Given the description of an element on the screen output the (x, y) to click on. 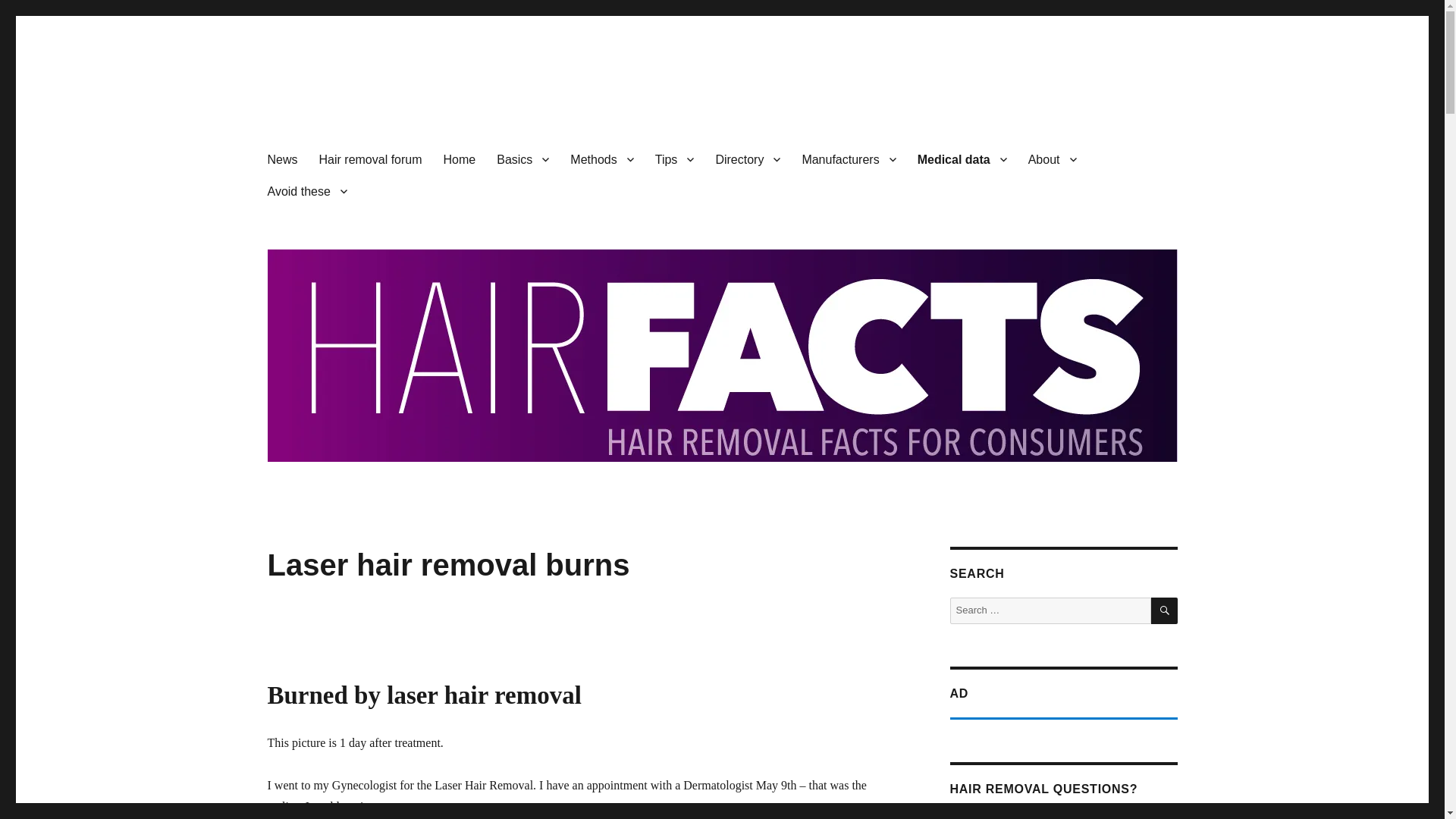
Methods (601, 159)
Hair removal forum (370, 159)
Home (459, 159)
News (281, 159)
Basics (522, 159)
